Given the description of an element on the screen output the (x, y) to click on. 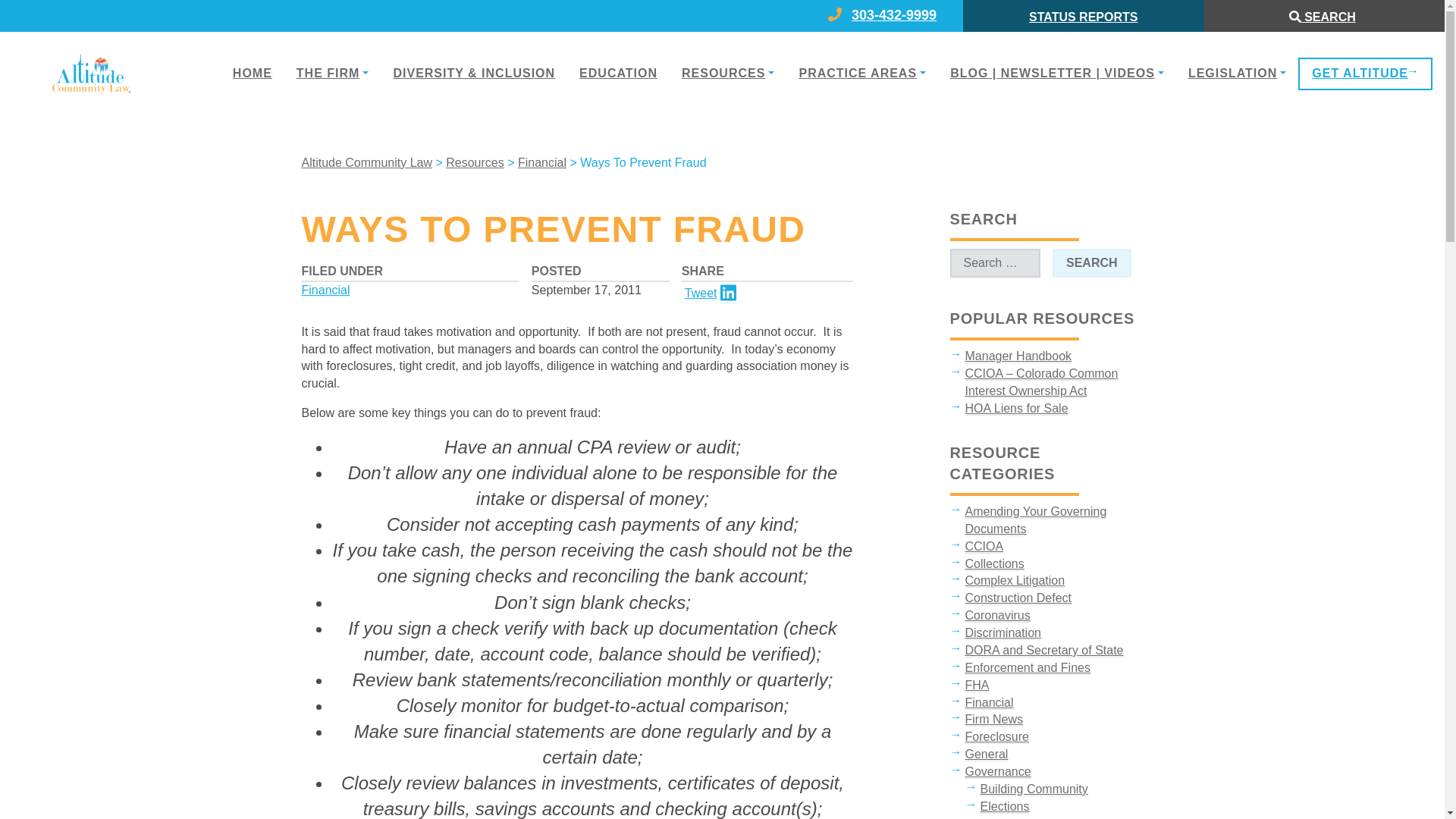
THE FIRM (332, 73)
Resources (727, 73)
EDUCATION (618, 73)
Manager Handbook (1017, 356)
Financial (542, 162)
SEARCH (1091, 263)
Home (252, 73)
Practice Areas (861, 73)
STATUS REPORTS (1083, 17)
Financial (325, 290)
RESOURCES (727, 73)
Tweet (700, 293)
303-432-9999 (901, 15)
Resources (474, 162)
Altitude Community Law (366, 162)
